Given the description of an element on the screen output the (x, y) to click on. 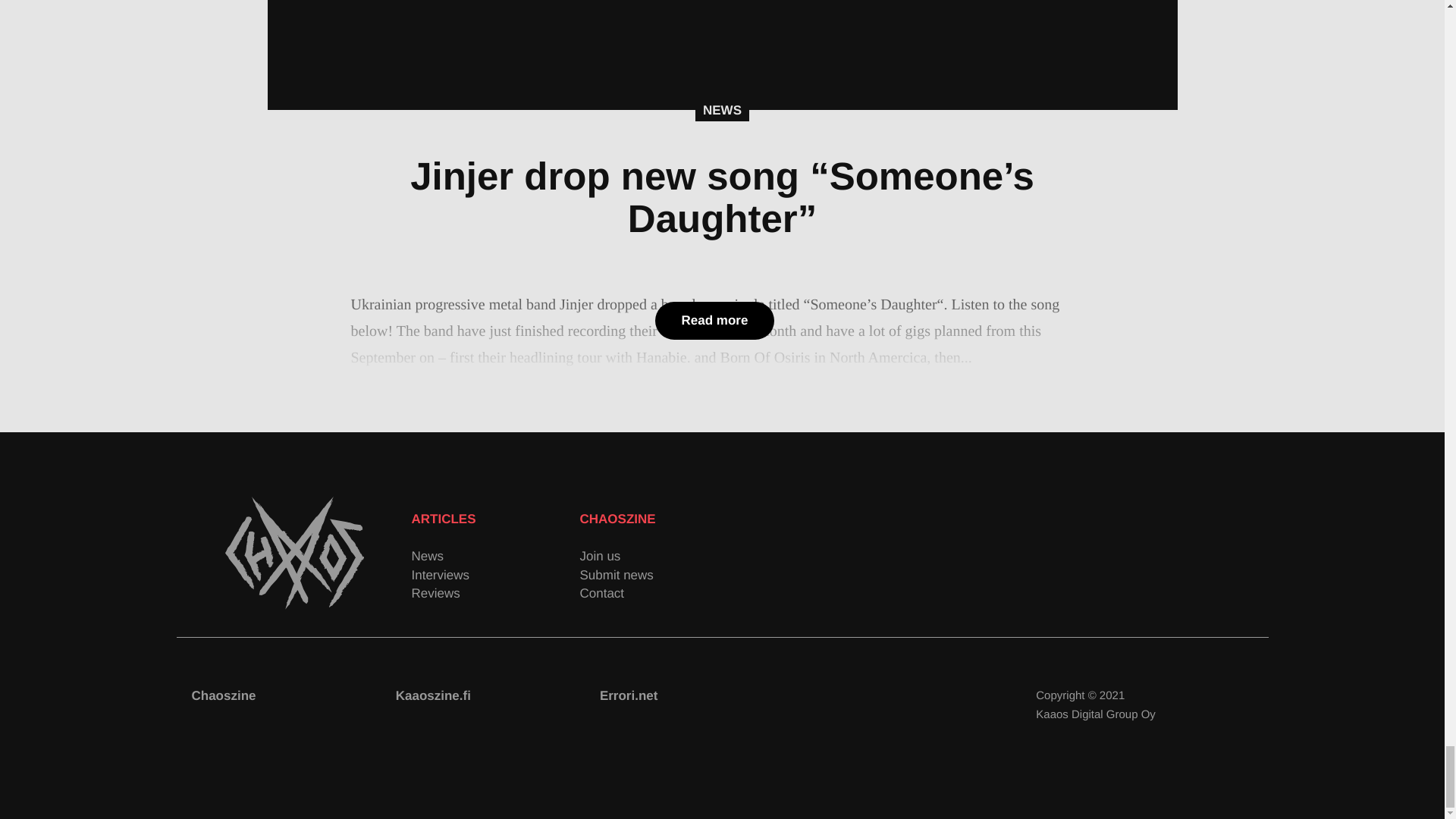
News (494, 556)
Interviews (494, 575)
NEWS (722, 110)
